Given the description of an element on the screen output the (x, y) to click on. 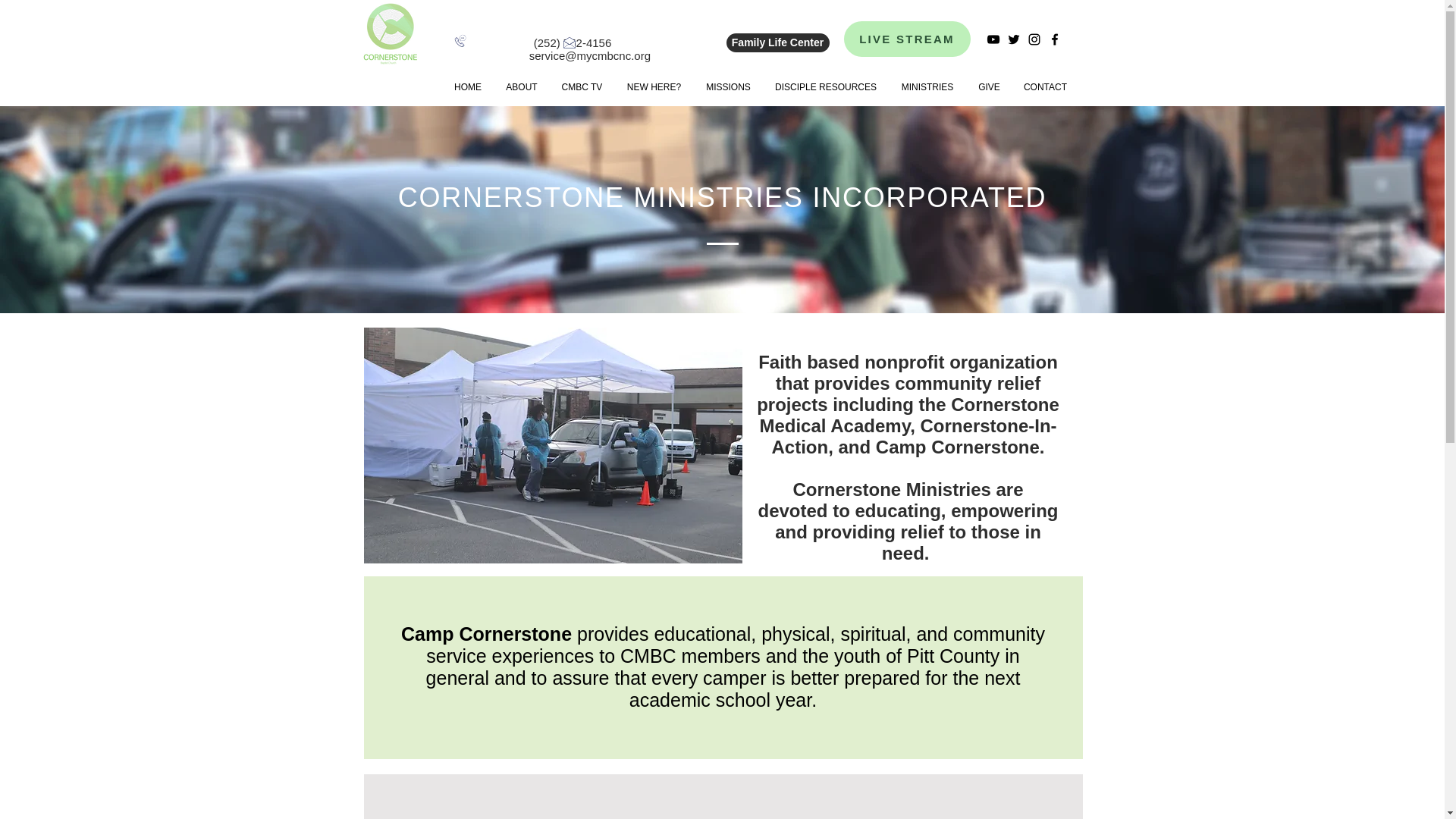
HOME (467, 86)
ABOUT (522, 86)
MINISTRIES (927, 86)
Family Life Center (777, 42)
DISCIPLE RESOURCES (825, 86)
MISSIONS (727, 86)
GIVE (988, 86)
NEW HERE? (653, 86)
LIVE STREAM (906, 38)
CONTACT (1044, 86)
CMBC TV (581, 86)
